Given the description of an element on the screen output the (x, y) to click on. 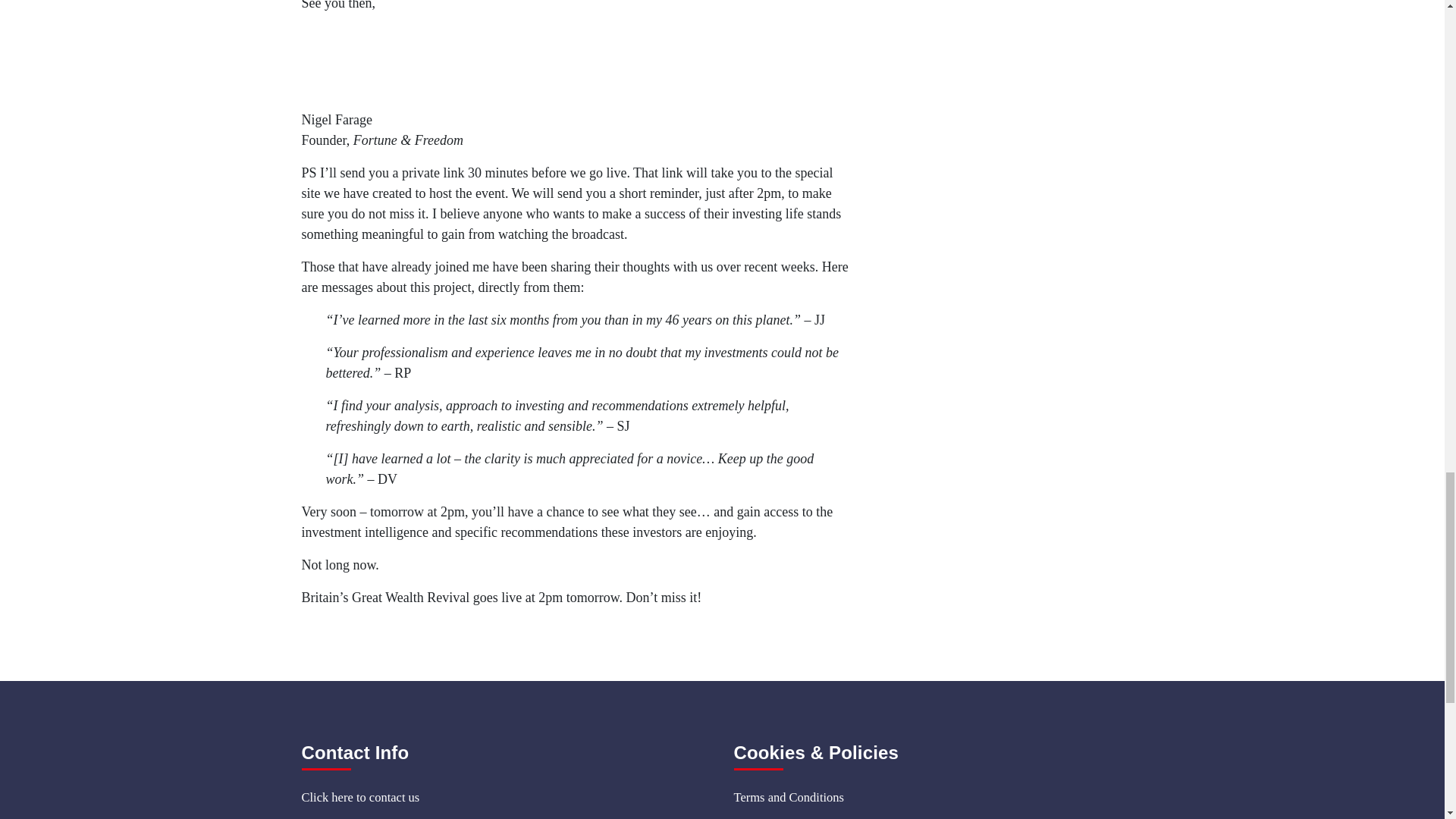
Click here (327, 797)
Terms and Conditions (937, 798)
Privacy Policy (937, 816)
